Given the description of an element on the screen output the (x, y) to click on. 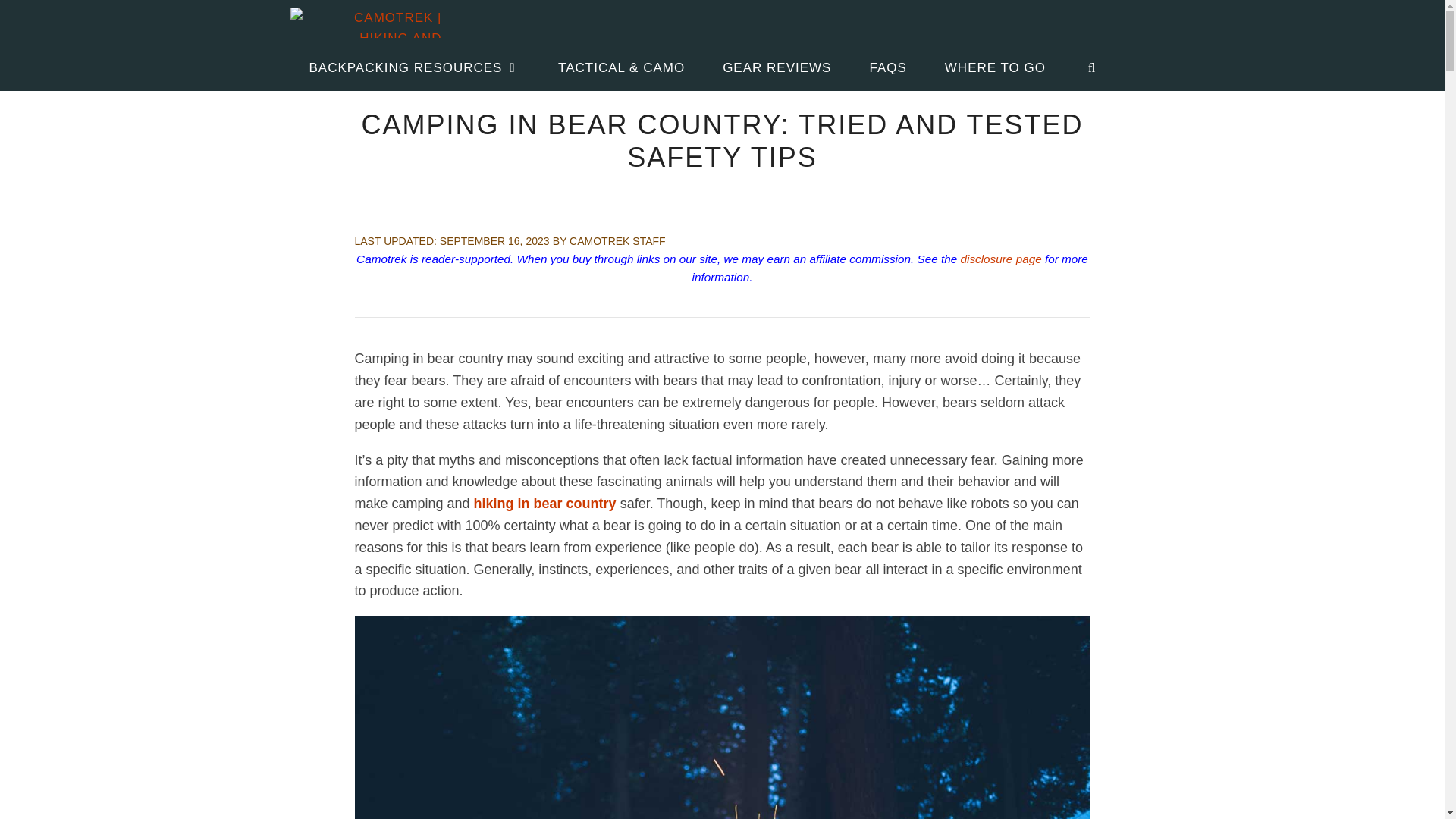
BACKPACKING RESOURCES (413, 67)
GEAR REVIEWS (776, 67)
